Given the description of an element on the screen output the (x, y) to click on. 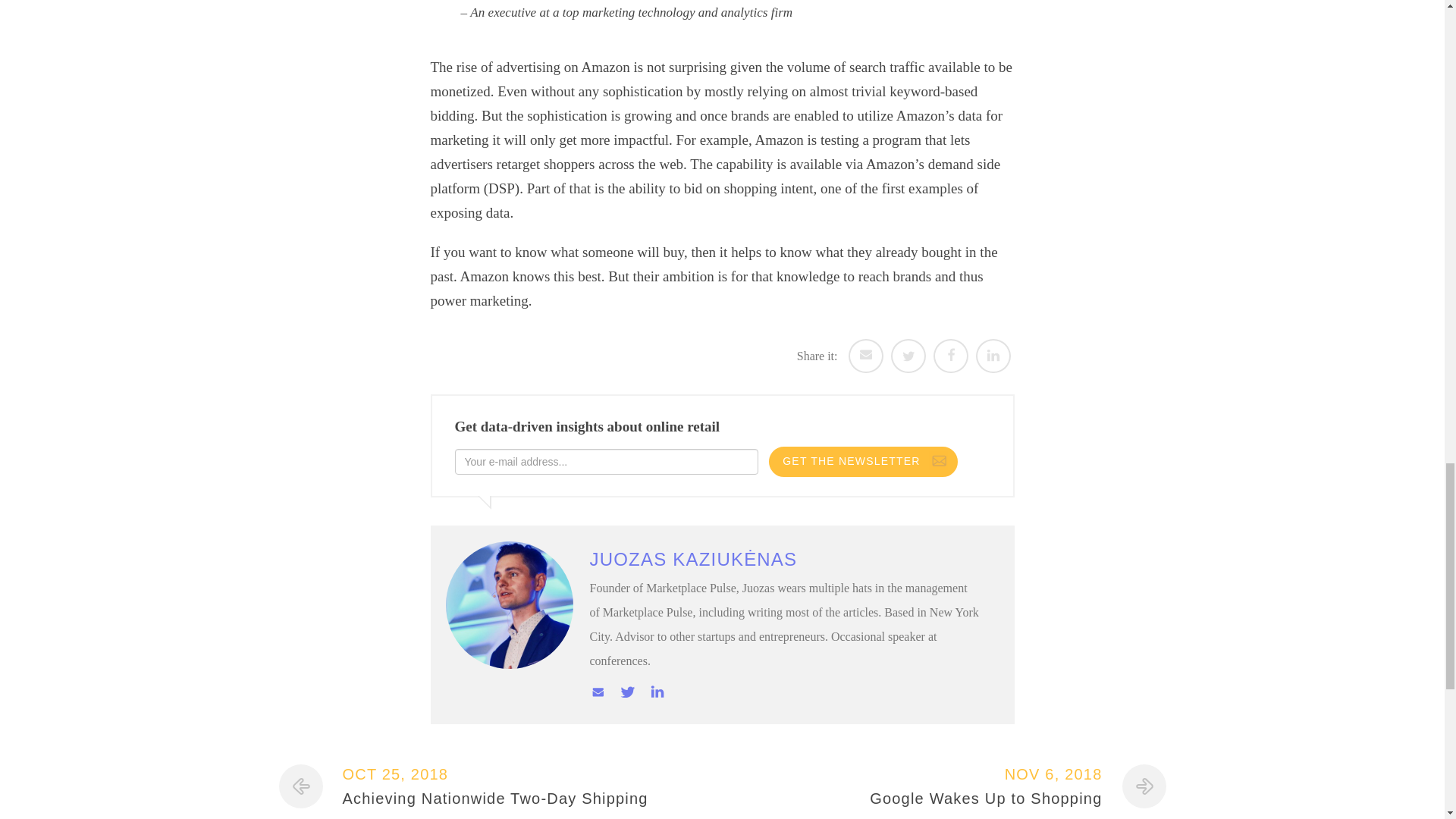
GET THE NEWSLETTER (944, 782)
